Given the description of an element on the screen output the (x, y) to click on. 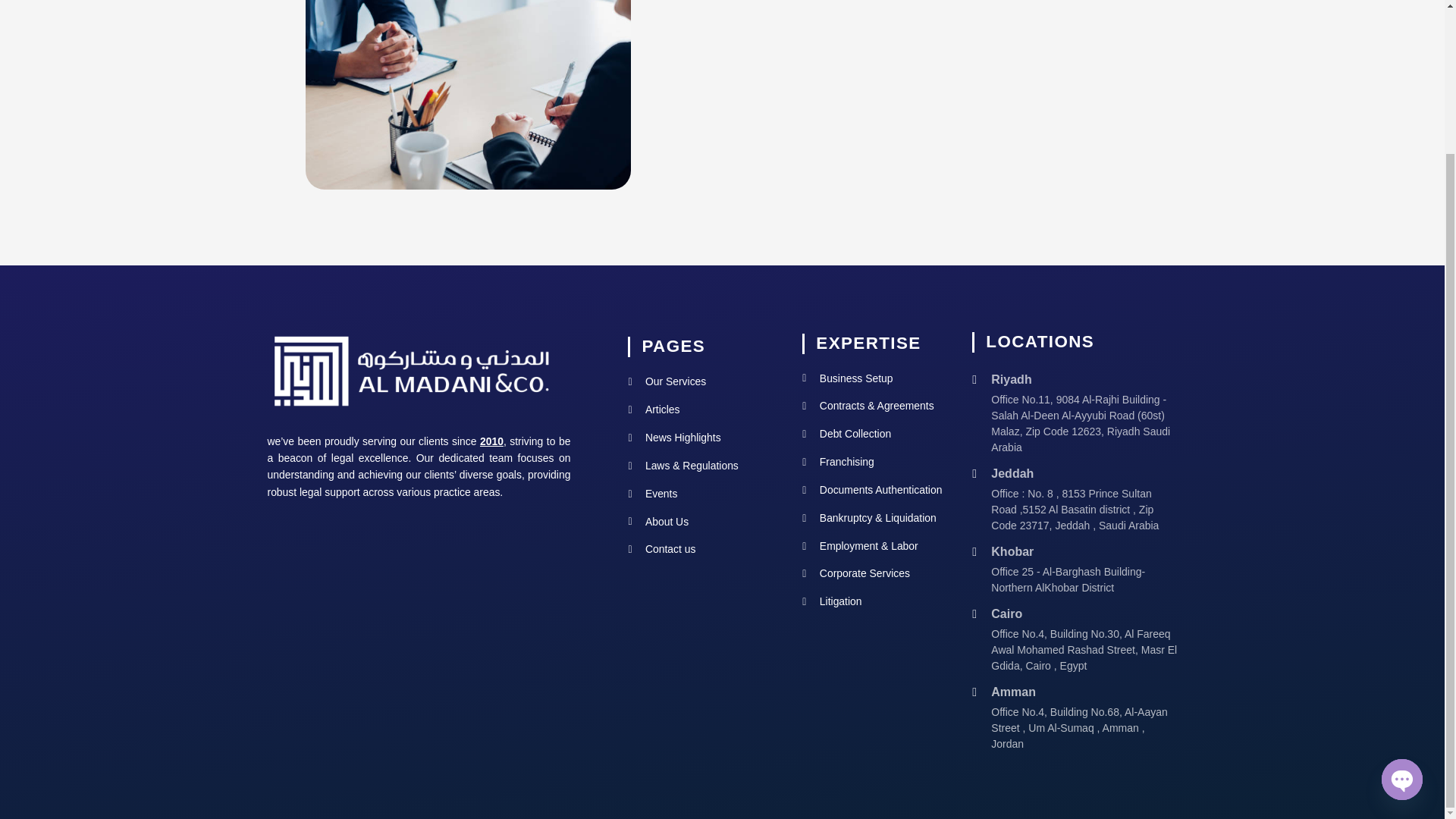
Franchising (877, 462)
Business Setup (877, 379)
Documents Authentication (877, 490)
Debt Collection (877, 434)
